Given the description of an element on the screen output the (x, y) to click on. 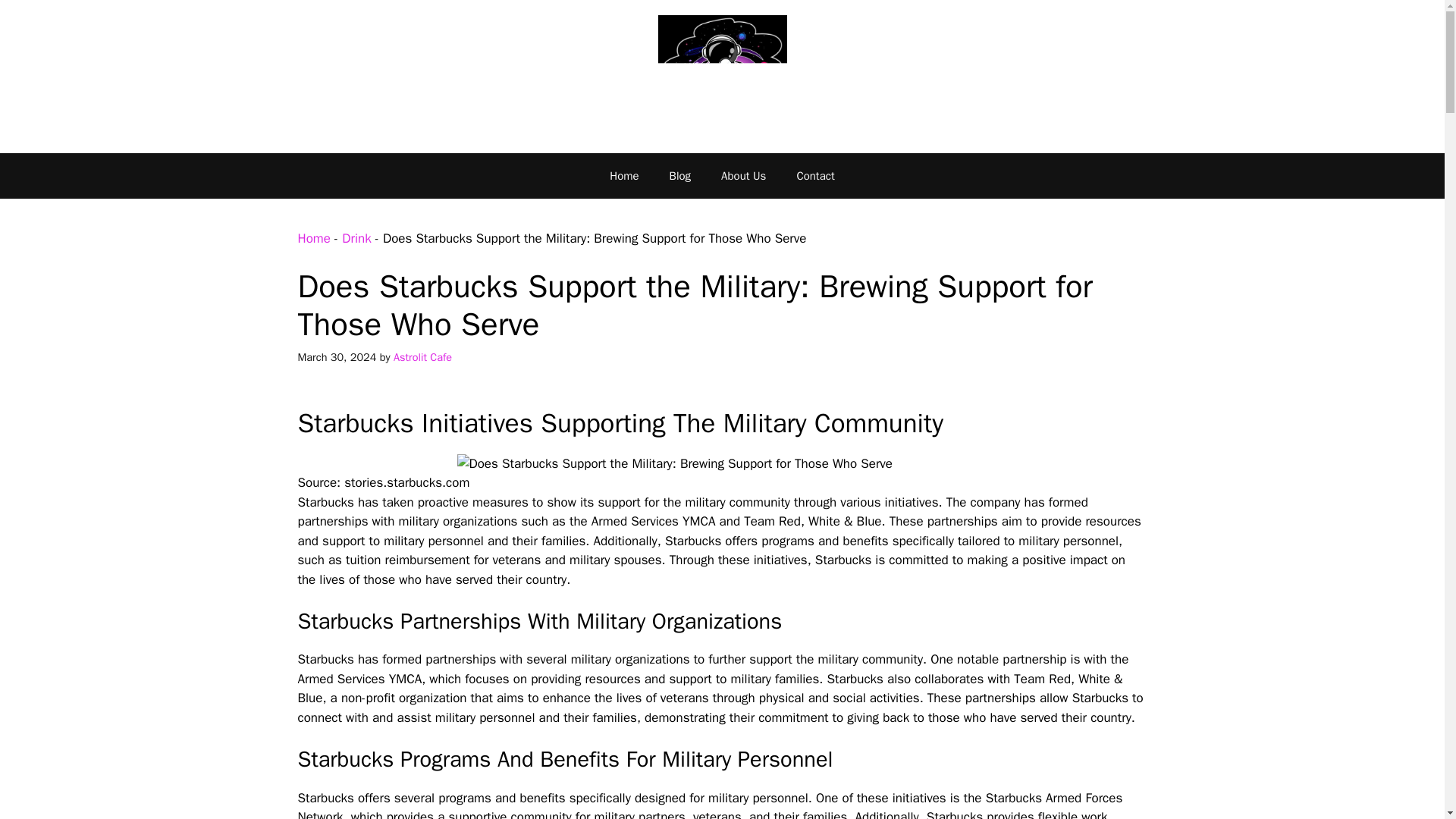
Blog (679, 176)
Drink (356, 238)
Contact (814, 176)
View all posts by Astrolit Cafe (422, 356)
Home (313, 238)
About Us (743, 176)
Astrolit Cafe (422, 356)
Home (623, 176)
